Given the description of an element on the screen output the (x, y) to click on. 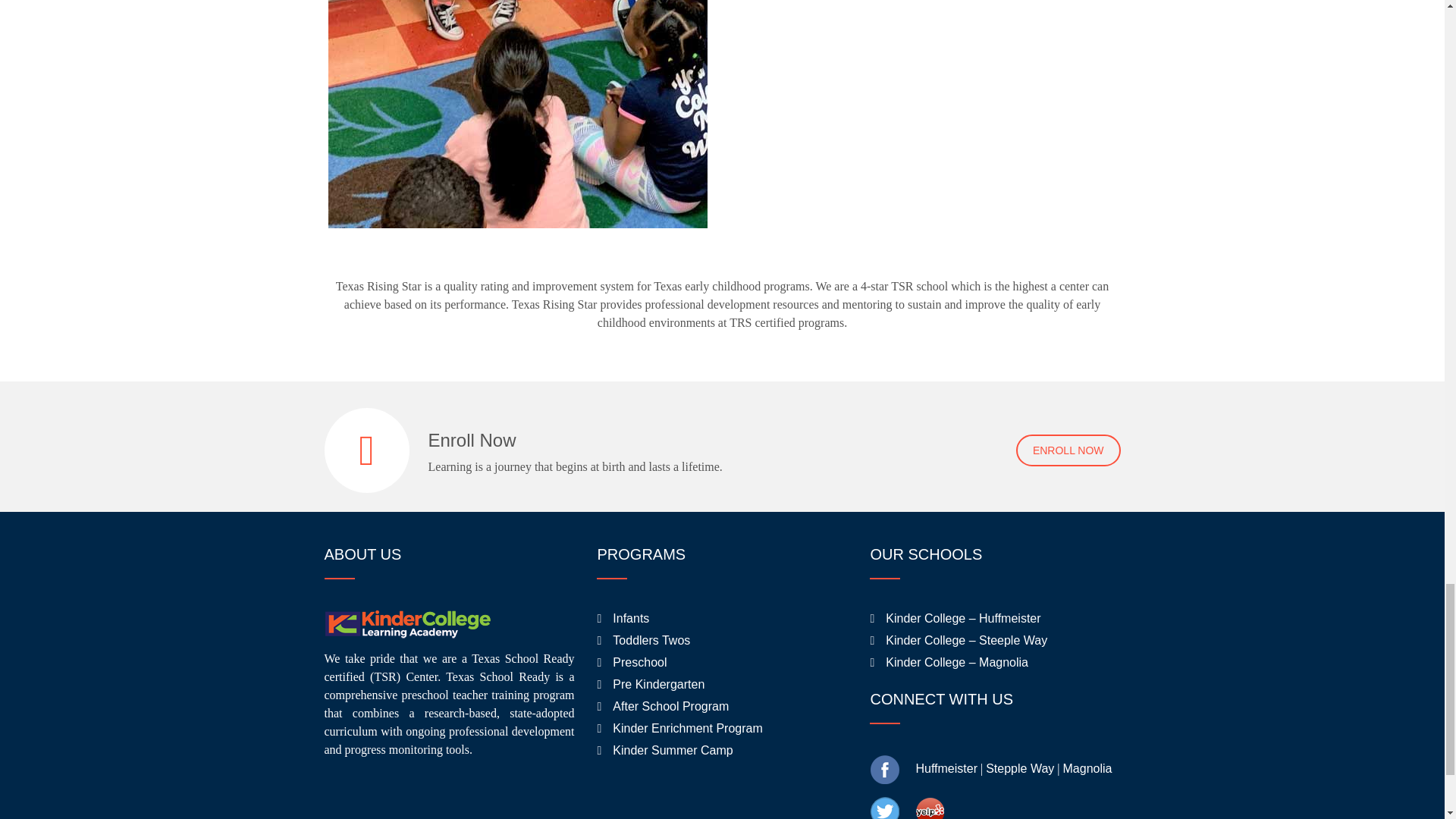
Preschool (639, 662)
Toddlers Twos (651, 640)
Kinder Summer Camp (672, 749)
Enrichment Program Leadership Skills (516, 114)
After School Program (670, 706)
Kinder Enrichment Program (686, 727)
Infants (630, 617)
ENROLL NOW (1068, 450)
Pre Kindergarten (658, 684)
